Given the description of an element on the screen output the (x, y) to click on. 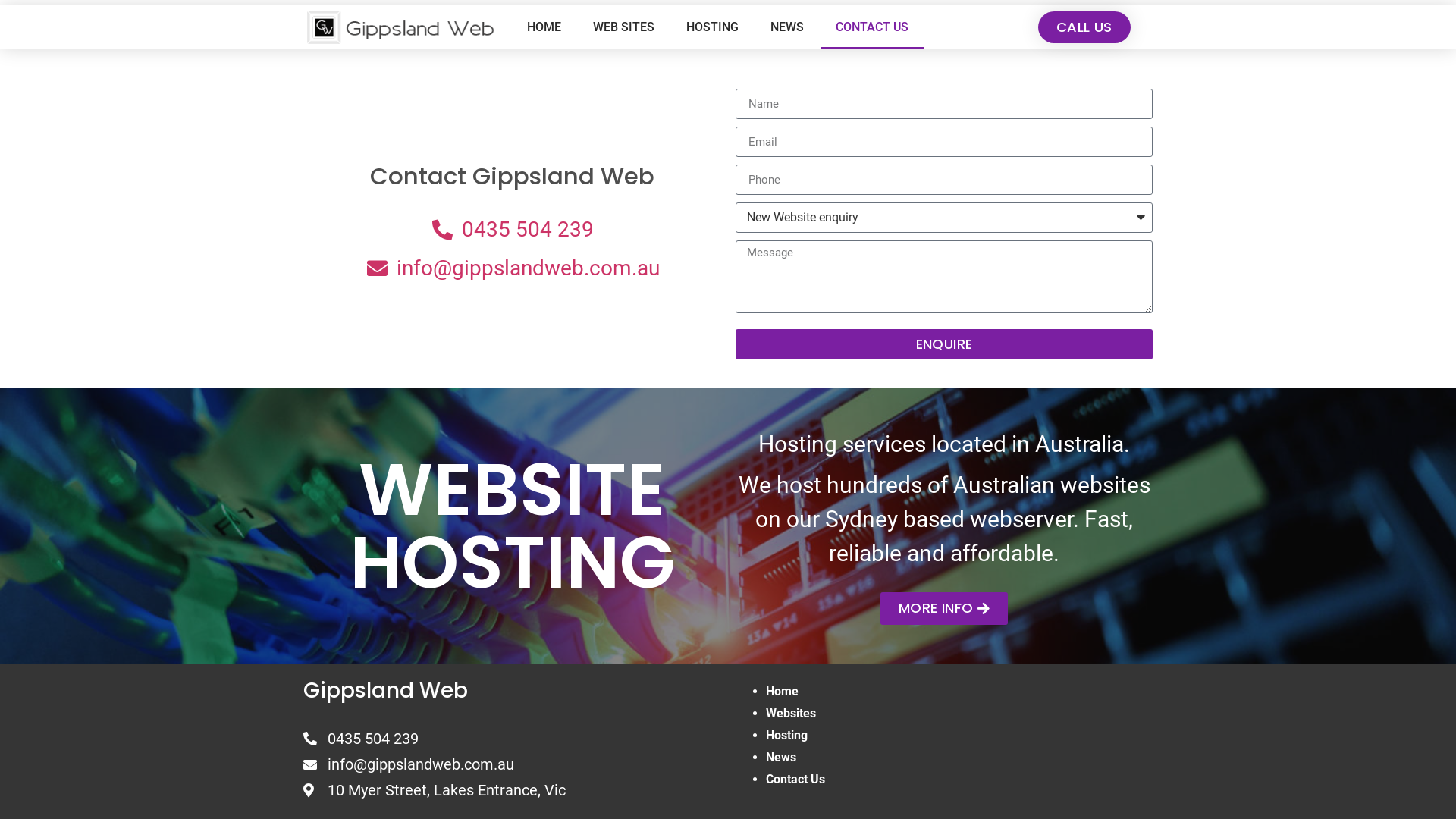
NEWS Element type: text (787, 27)
Contact Us Element type: text (795, 778)
News Element type: text (780, 756)
CALL US Element type: text (1084, 27)
HOSTING Element type: text (712, 27)
ENQUIRE Element type: text (943, 344)
info@gippslandweb.com.au Element type: text (511, 267)
0435 504 239 Element type: text (511, 738)
info@gippslandweb.com.au Element type: text (511, 764)
Hosting Element type: text (786, 735)
HOME Element type: text (543, 27)
Websites Element type: text (790, 713)
CONTACT US Element type: text (871, 27)
0435 504 239 Element type: text (511, 229)
Home Element type: text (781, 691)
MORE INFO Element type: text (943, 608)
WEB SITES Element type: text (623, 27)
